Given the description of an element on the screen output the (x, y) to click on. 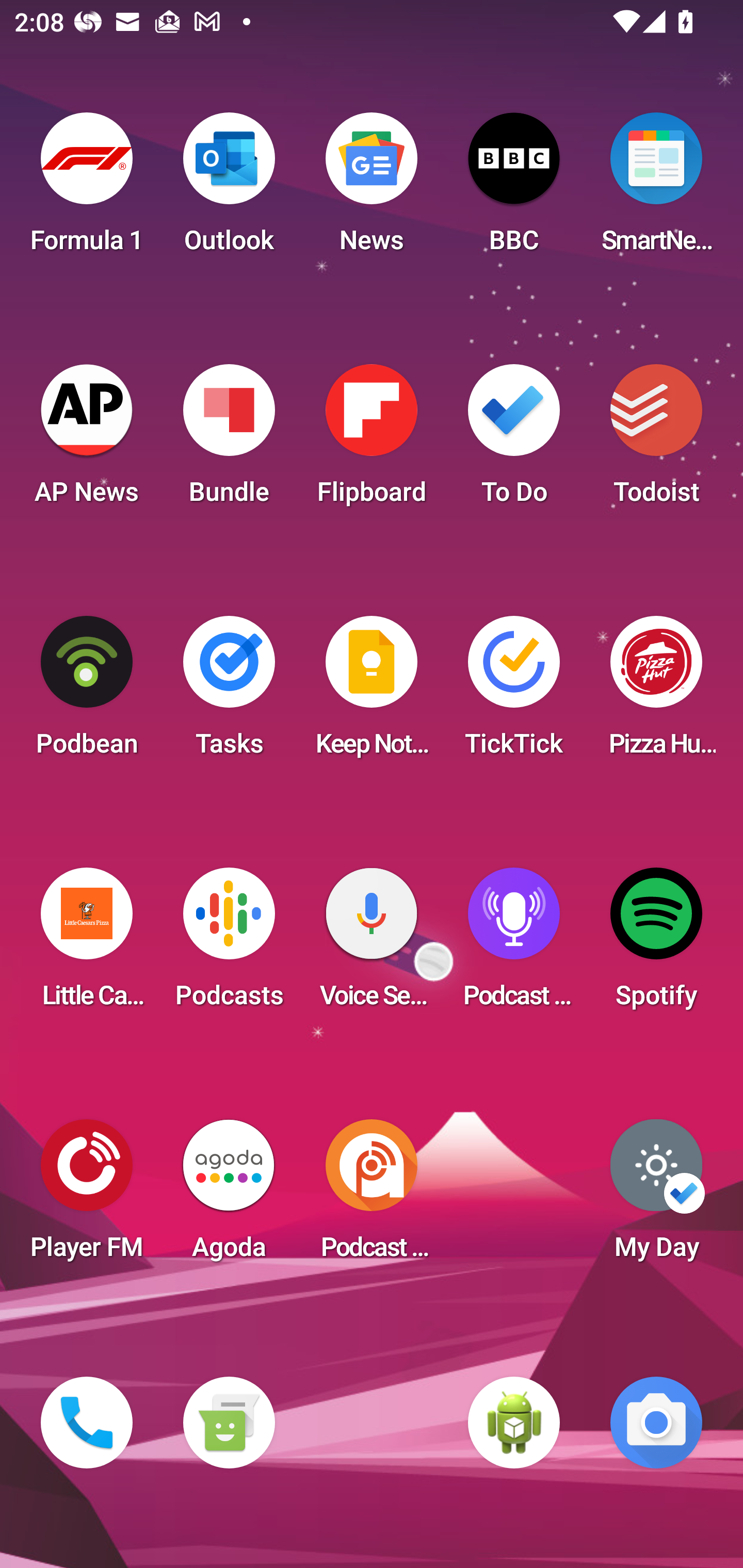
Formula 1 (86, 188)
Outlook (228, 188)
News (371, 188)
BBC (513, 188)
SmartNews (656, 188)
AP News (86, 440)
Bundle (228, 440)
Flipboard (371, 440)
To Do (513, 440)
Todoist (656, 440)
Podbean (86, 692)
Tasks (228, 692)
Keep Notes (371, 692)
TickTick (513, 692)
Pizza Hut HK & Macau (656, 692)
Little Caesars Pizza (86, 943)
Podcasts (228, 943)
Voice Search (371, 943)
Podcast Player (513, 943)
Spotify (656, 943)
Player FM (86, 1195)
Agoda (228, 1195)
Podcast Addict (371, 1195)
My Day (656, 1195)
Phone (86, 1422)
Messaging (228, 1422)
WebView Browser Tester (513, 1422)
Camera (656, 1422)
